Given the description of an element on the screen output the (x, y) to click on. 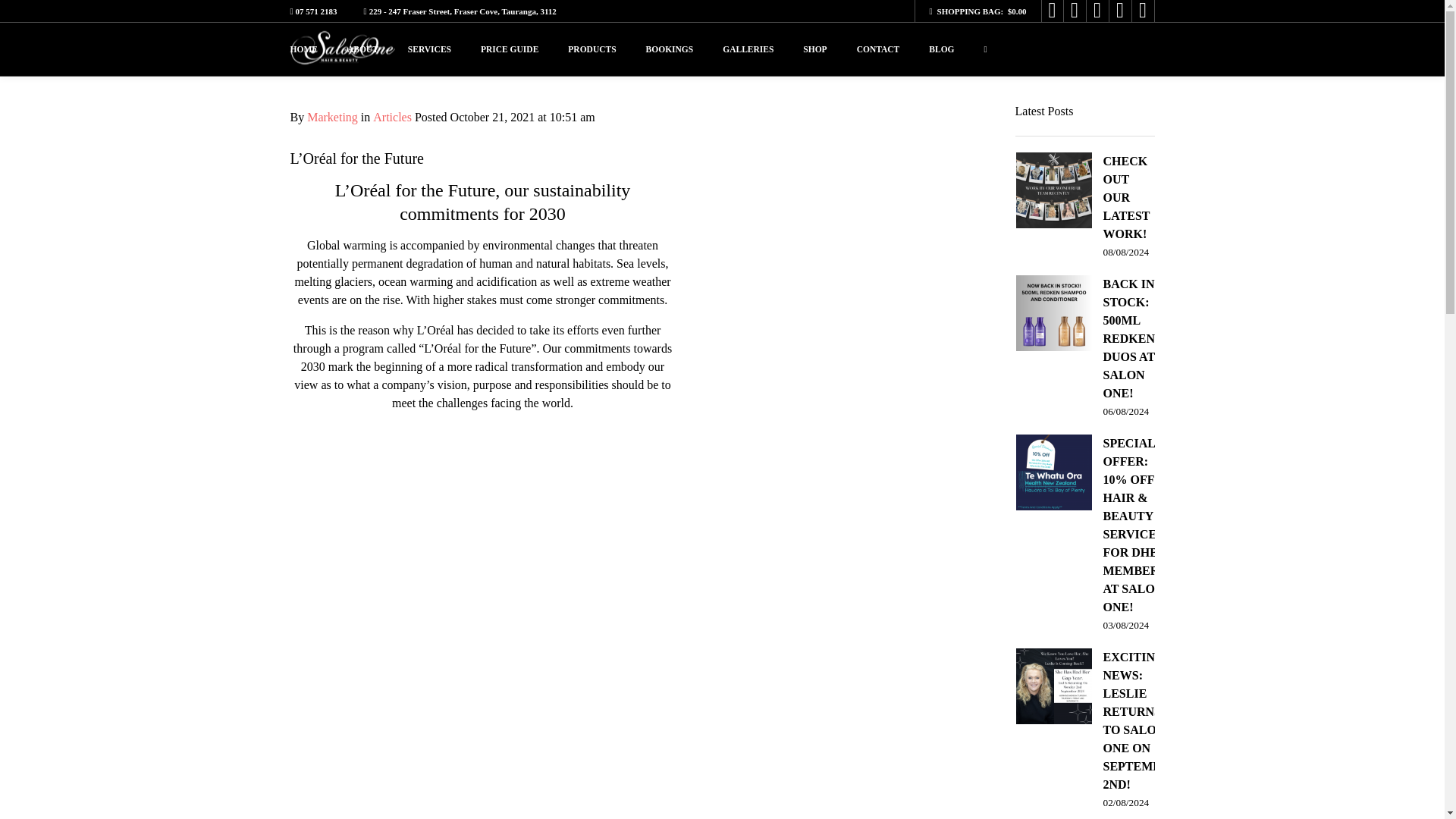
Back in Stock: 500ml Redken Duos at Salon One! (1085, 347)
Posts by Marketing (332, 116)
PRODUCTS (591, 49)
Check Out Our Latest Work! (1085, 206)
Exciting News: Leslie Returns to Salon One on September 2nd! (1096, 730)
PRICE GUIDE (509, 49)
